Given the description of an element on the screen output the (x, y) to click on. 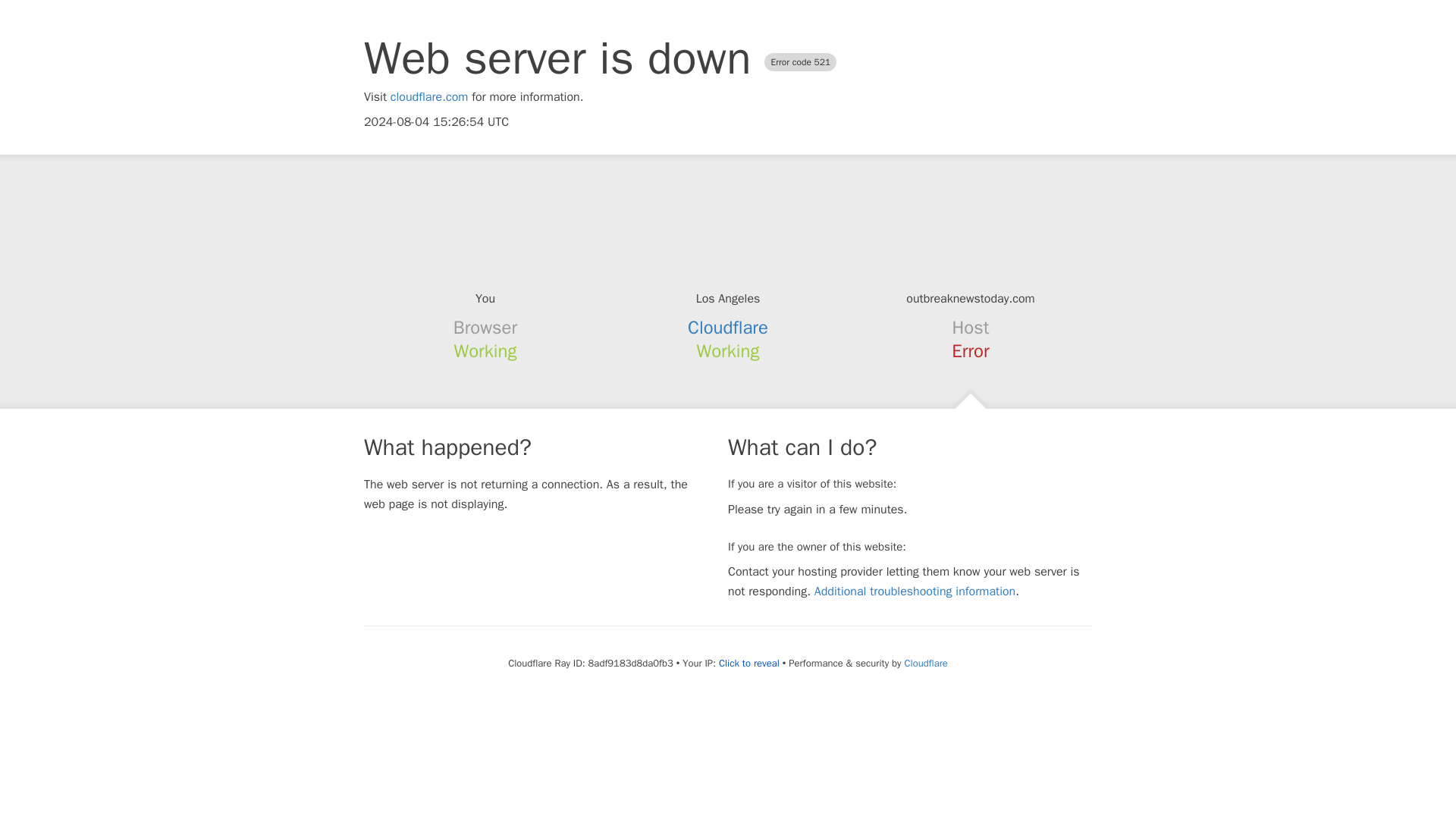
Cloudflare (925, 662)
Additional troubleshooting information (913, 590)
Click to reveal (748, 663)
Cloudflare (727, 327)
cloudflare.com (429, 96)
